Given the description of an element on the screen output the (x, y) to click on. 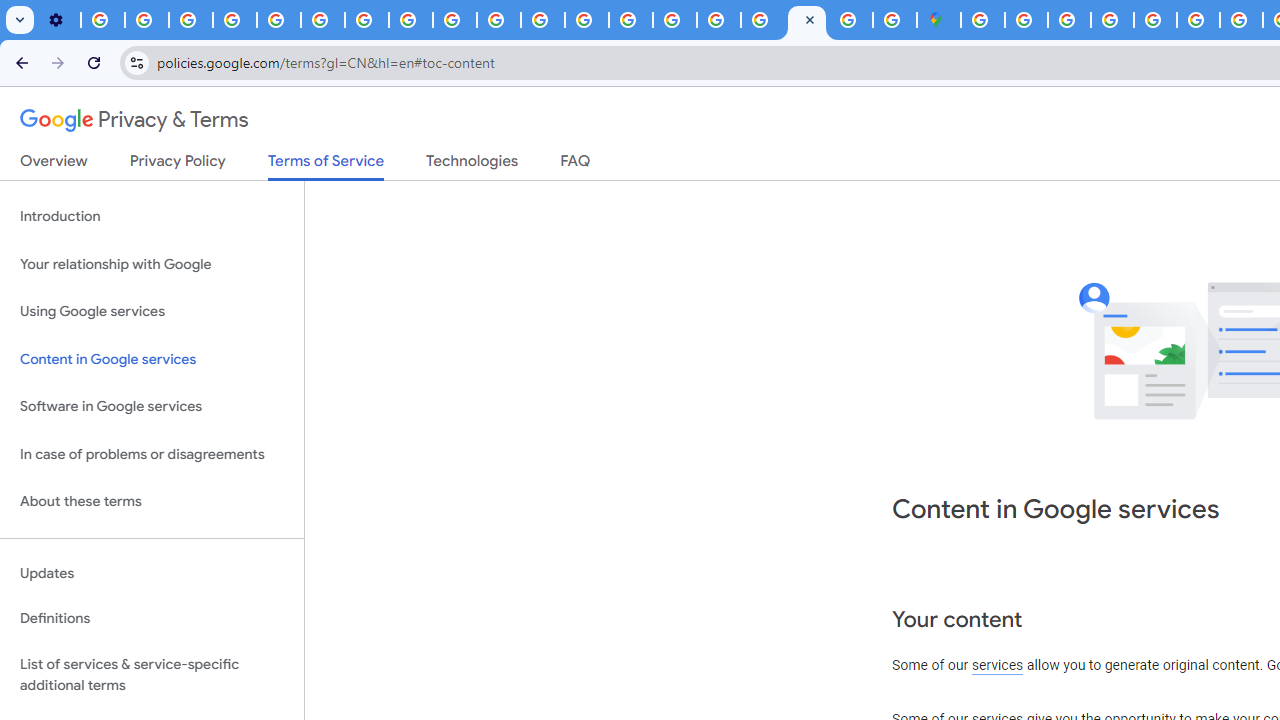
YouTube (322, 20)
Learn how to find your photos - Google Photos Help (146, 20)
In case of problems or disagreements (152, 453)
Sign in - Google Accounts (982, 20)
Software in Google services (152, 407)
Privacy Checkup (498, 20)
